Given the description of an element on the screen output the (x, y) to click on. 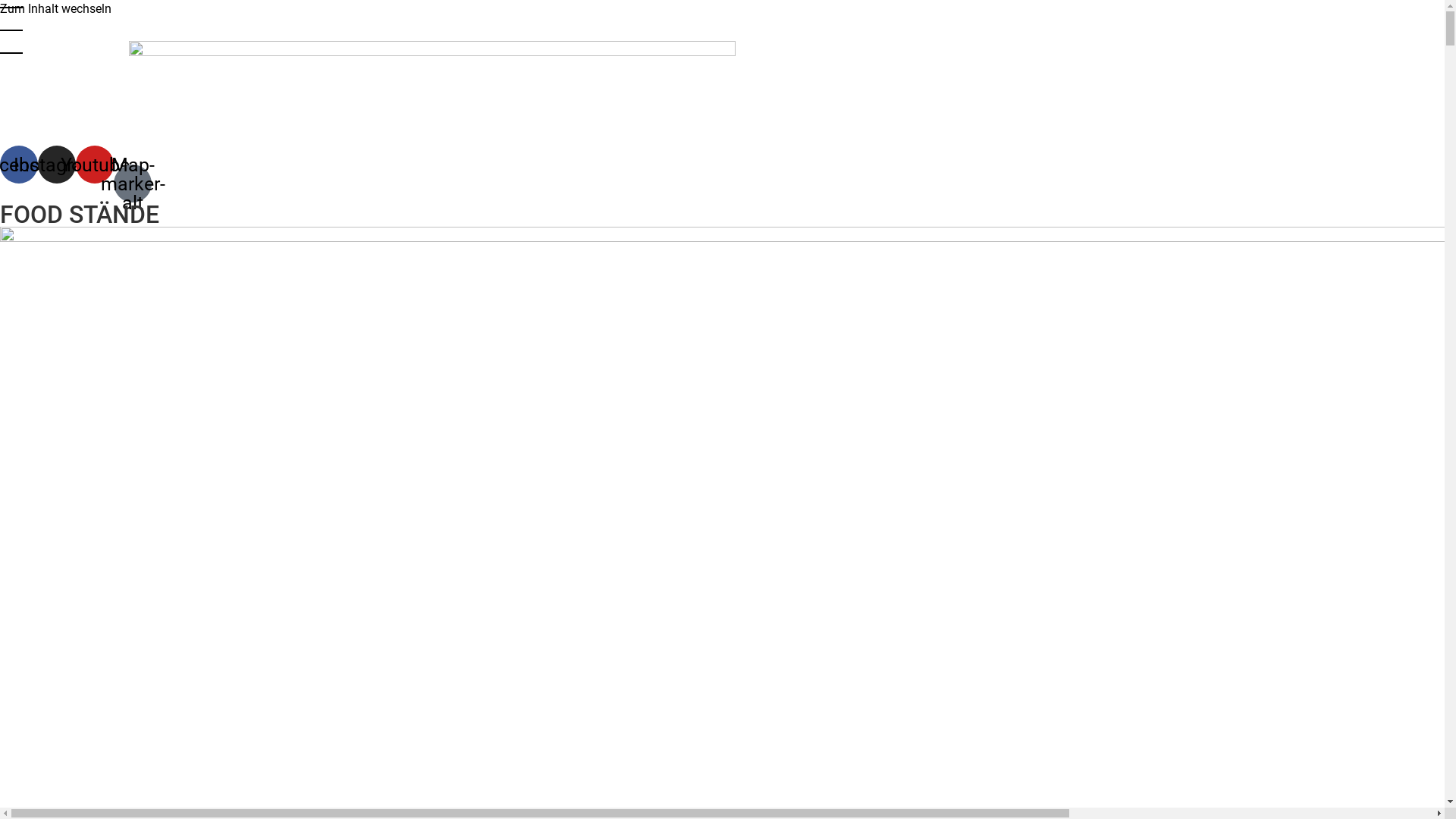
Map-marker-alt Element type: text (132, 183)
Youtube Element type: text (94, 164)
Zum Inhalt wechseln Element type: text (55, 8)
Instagram Element type: text (56, 164)
Facebook Element type: text (18, 164)
